Given the description of an element on the screen output the (x, y) to click on. 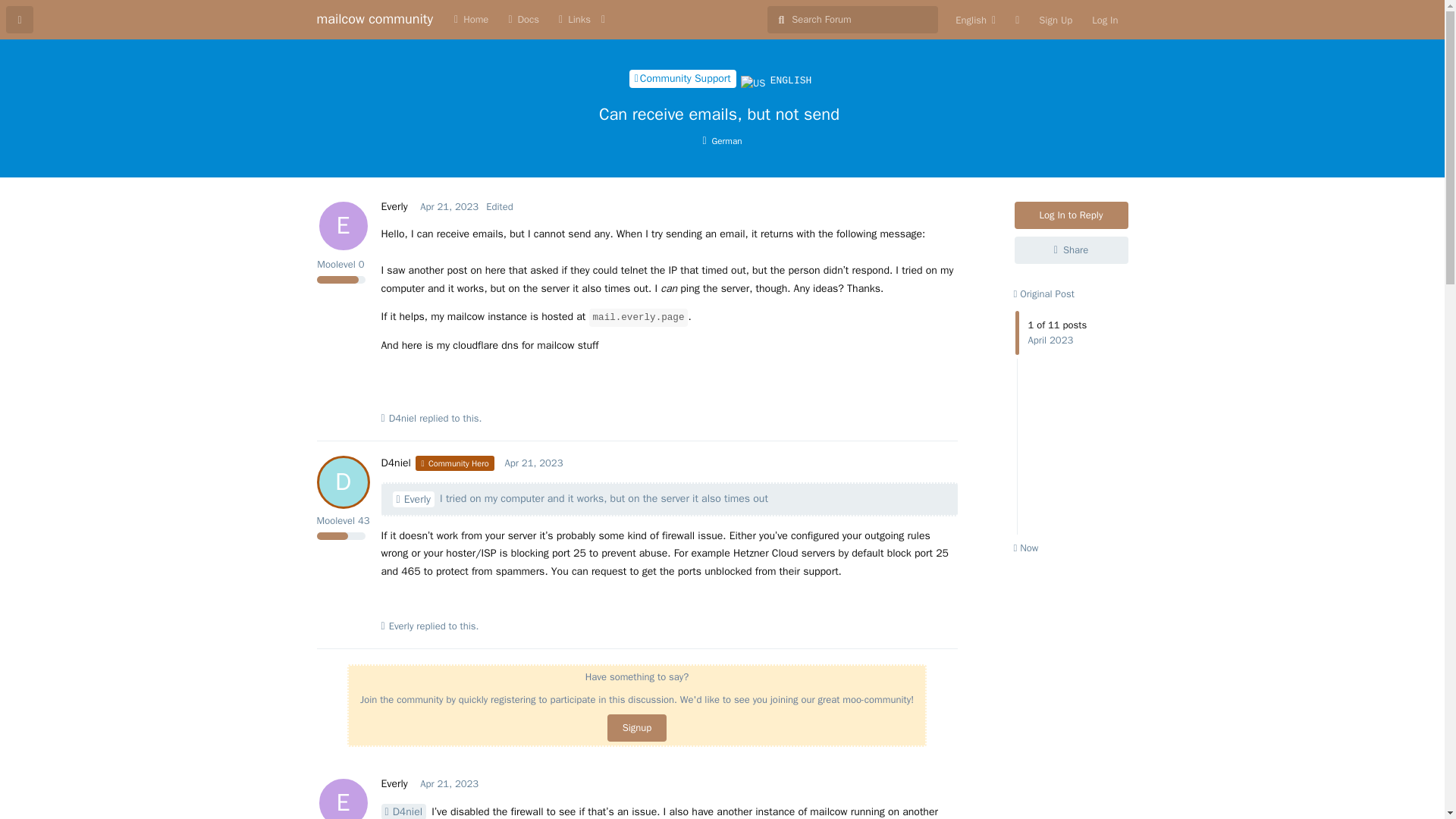
Share (1071, 249)
English (975, 19)
D4niel (393, 783)
Apr 21, 2023 (403, 811)
Signup (449, 783)
Community Support (636, 728)
Docs (682, 78)
Log In (522, 19)
Apr 21, 2023 (1103, 19)
